Given the description of an element on the screen output the (x, y) to click on. 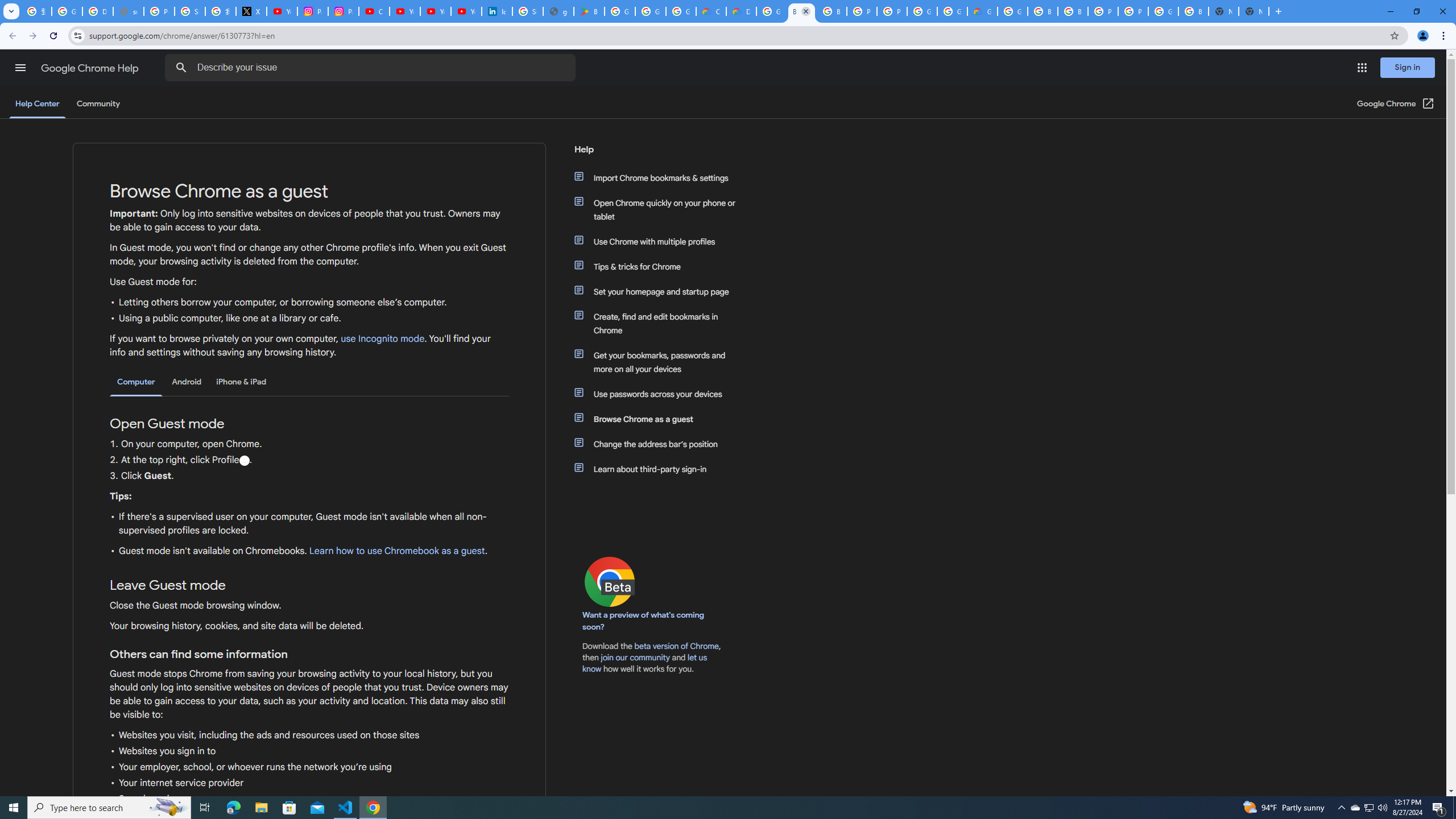
Search Help Center (181, 67)
Browse Chrome as a guest - Computer - Google Chrome Help (801, 11)
YouTube Content Monetization Policies - How YouTube Works (282, 11)
Google Cloud Platform (771, 11)
Google Chrome Help (90, 68)
Bluey: Let's Play! - Apps on Google Play (589, 11)
let us know (644, 663)
beta version of Chrome (676, 646)
Browse Chrome as a guest (661, 419)
Want a preview of what's coming soon? (643, 621)
